Given the description of an element on the screen output the (x, y) to click on. 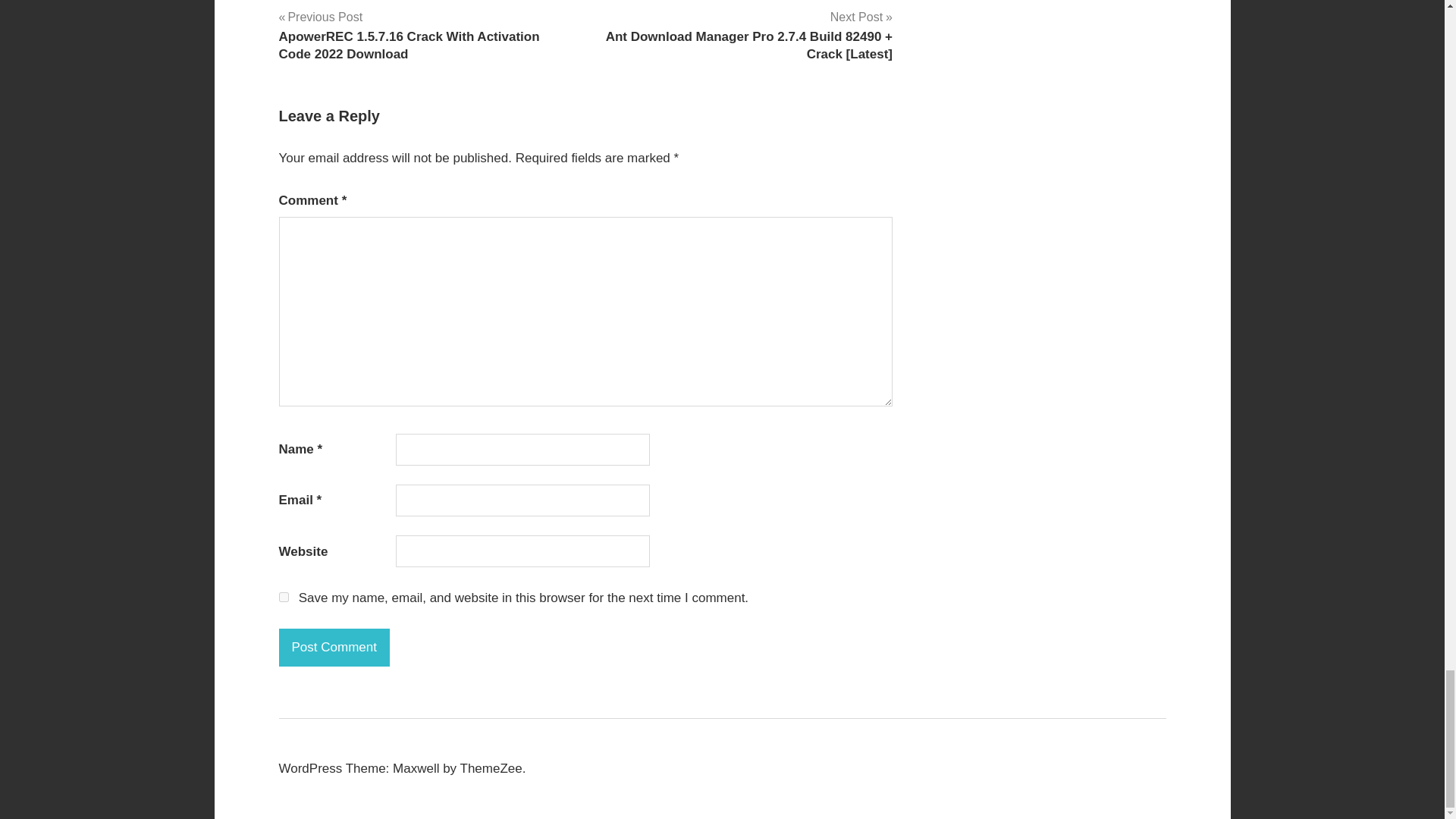
yes (283, 596)
Post Comment (334, 647)
